Given the description of an element on the screen output the (x, y) to click on. 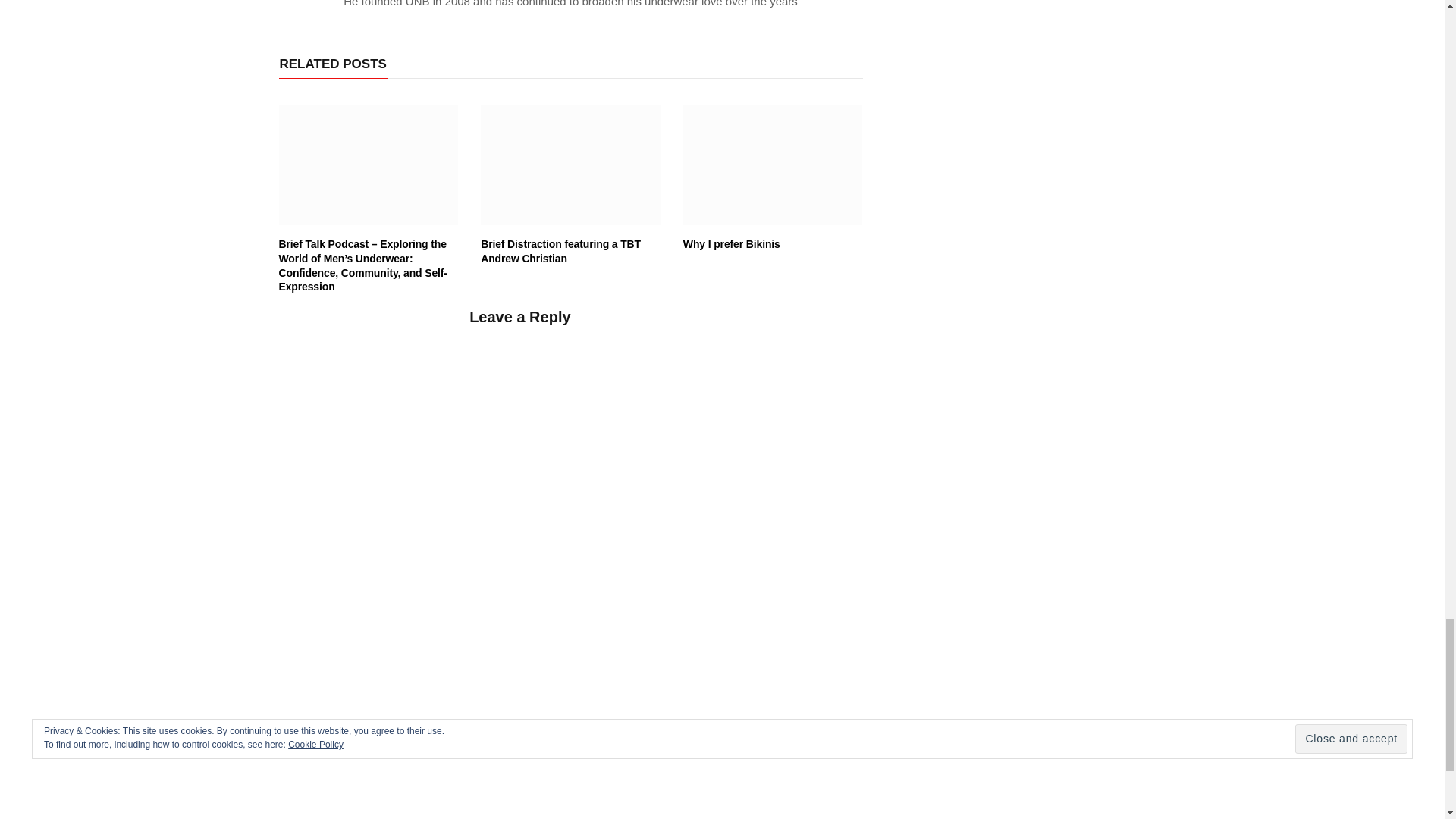
Why I prefer Bikinis (772, 165)
Brief Distraction featuring a TBT Andrew Christian (570, 165)
